Given the description of an element on the screen output the (x, y) to click on. 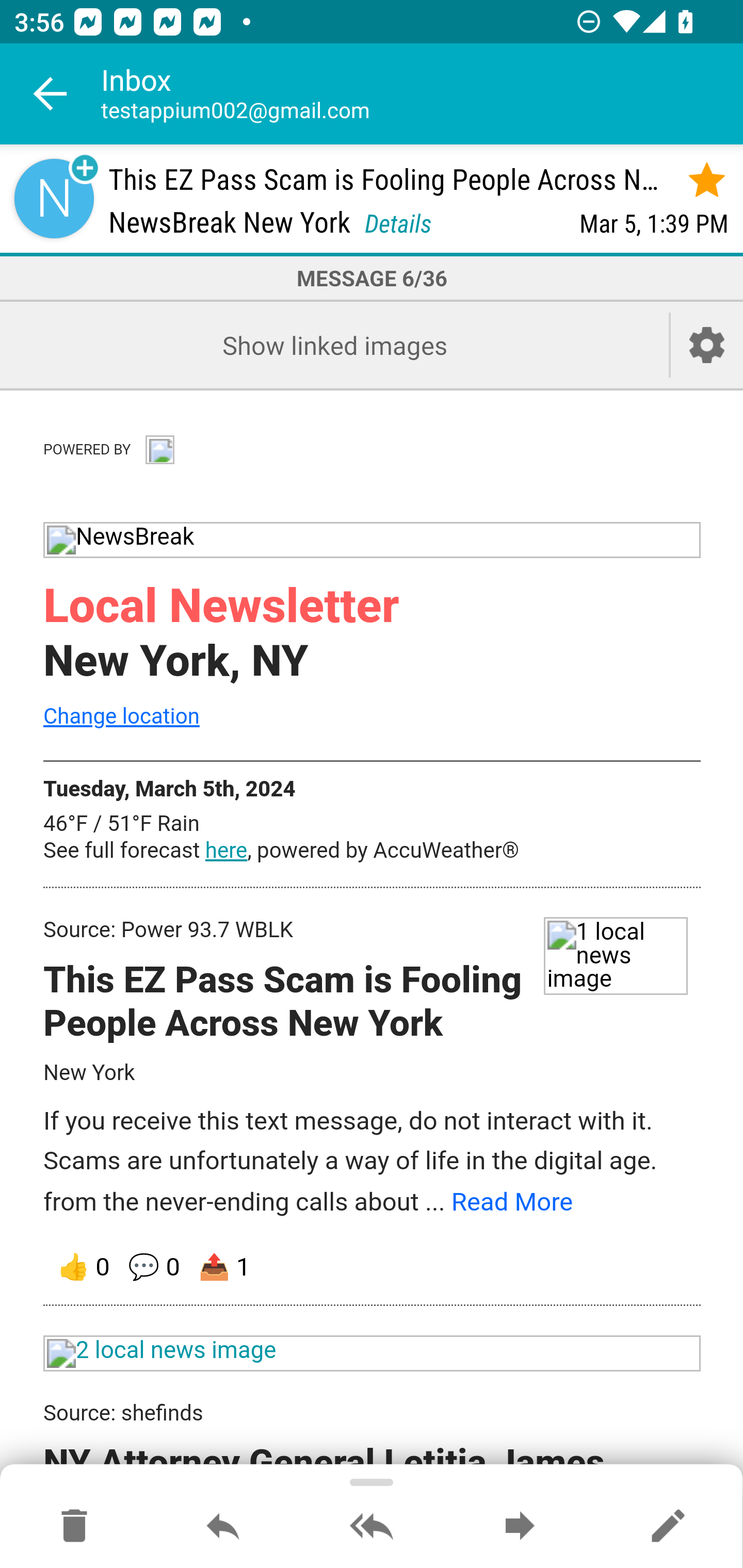
Navigate up (50, 93)
Inbox testappium002@gmail.com (422, 93)
Sender contact button (53, 198)
Show linked images (334, 344)
Account setup (706, 344)
info (159, 447)
Change location (121, 715)
here (225, 850)
👍 0   💬 0   📤 1 (372, 1267)
2 local news image (372, 1353)
Move to Deleted (74, 1527)
Reply (222, 1527)
Reply all (371, 1527)
Forward (519, 1527)
Reply as new (667, 1527)
